Given the description of an element on the screen output the (x, y) to click on. 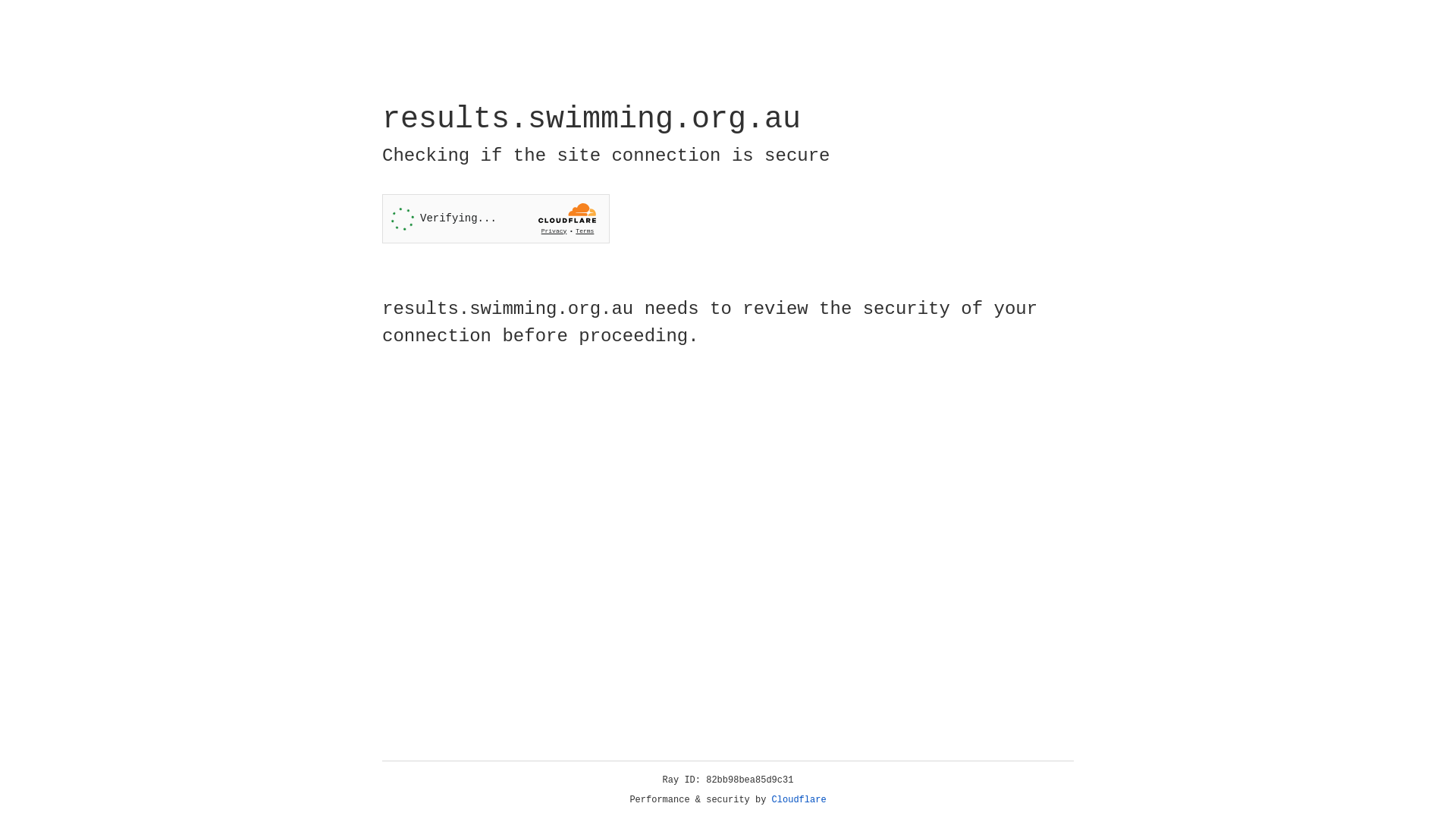
Cloudflare Element type: text (798, 799)
Widget containing a Cloudflare security challenge Element type: hover (495, 218)
